Given the description of an element on the screen output the (x, y) to click on. 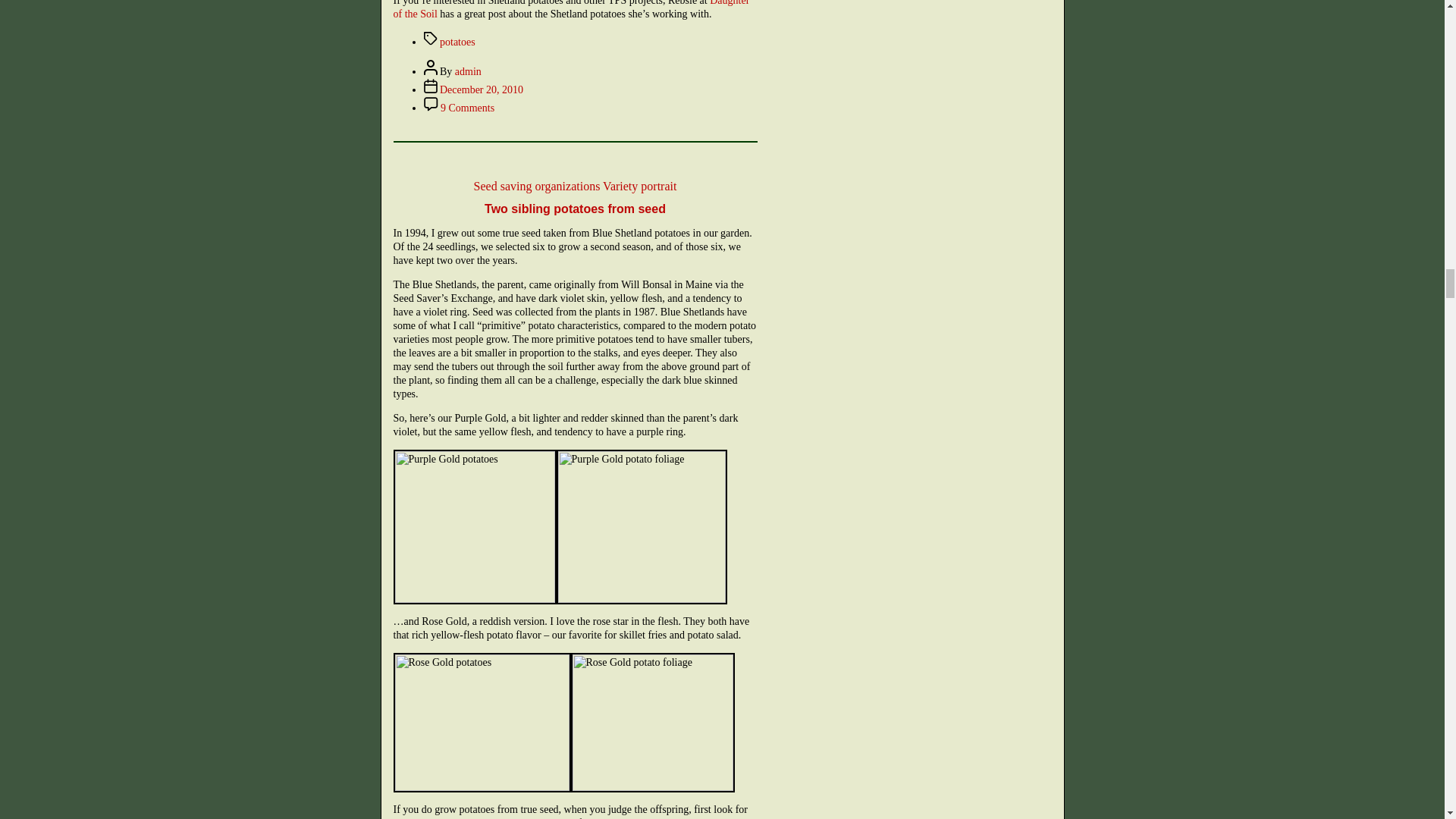
potatoes (457, 41)
Variety portrait (639, 185)
Daughter of the Soil (571, 9)
Two sibling potatoes from seed (574, 208)
December 20, 2010 (480, 89)
admin (467, 71)
Seed saving organizations (536, 185)
